Given the description of an element on the screen output the (x, y) to click on. 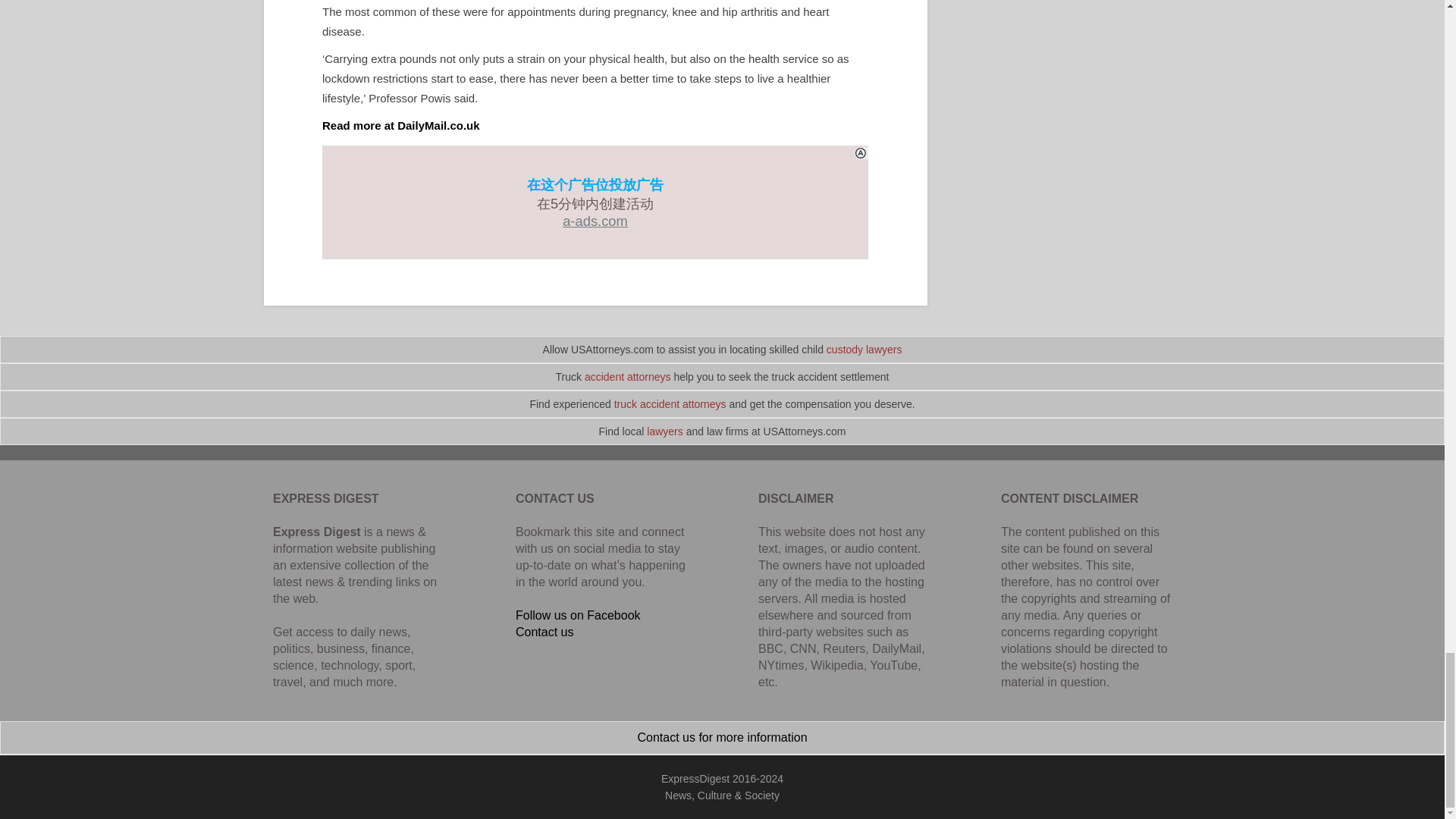
truck accident attorneys (670, 404)
accident attorneys (628, 377)
custody lawyers (864, 349)
lawyers (664, 431)
Read more at DailyMail.co.uk (400, 124)
